Given the description of an element on the screen output the (x, y) to click on. 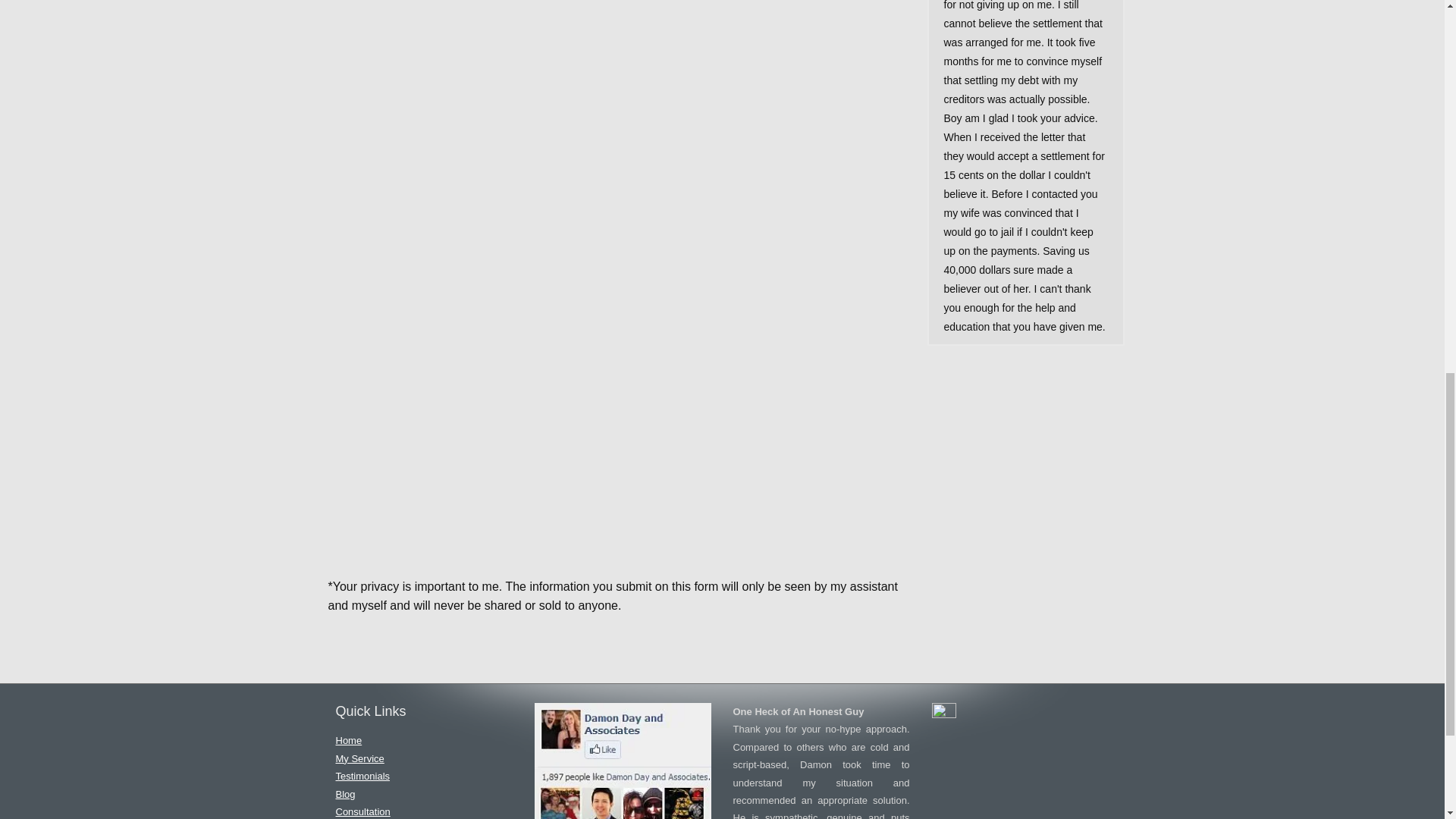
Blog (344, 794)
Home (347, 740)
Consultation (362, 811)
My Service (359, 758)
Testimonials (362, 776)
